Given the description of an element on the screen output the (x, y) to click on. 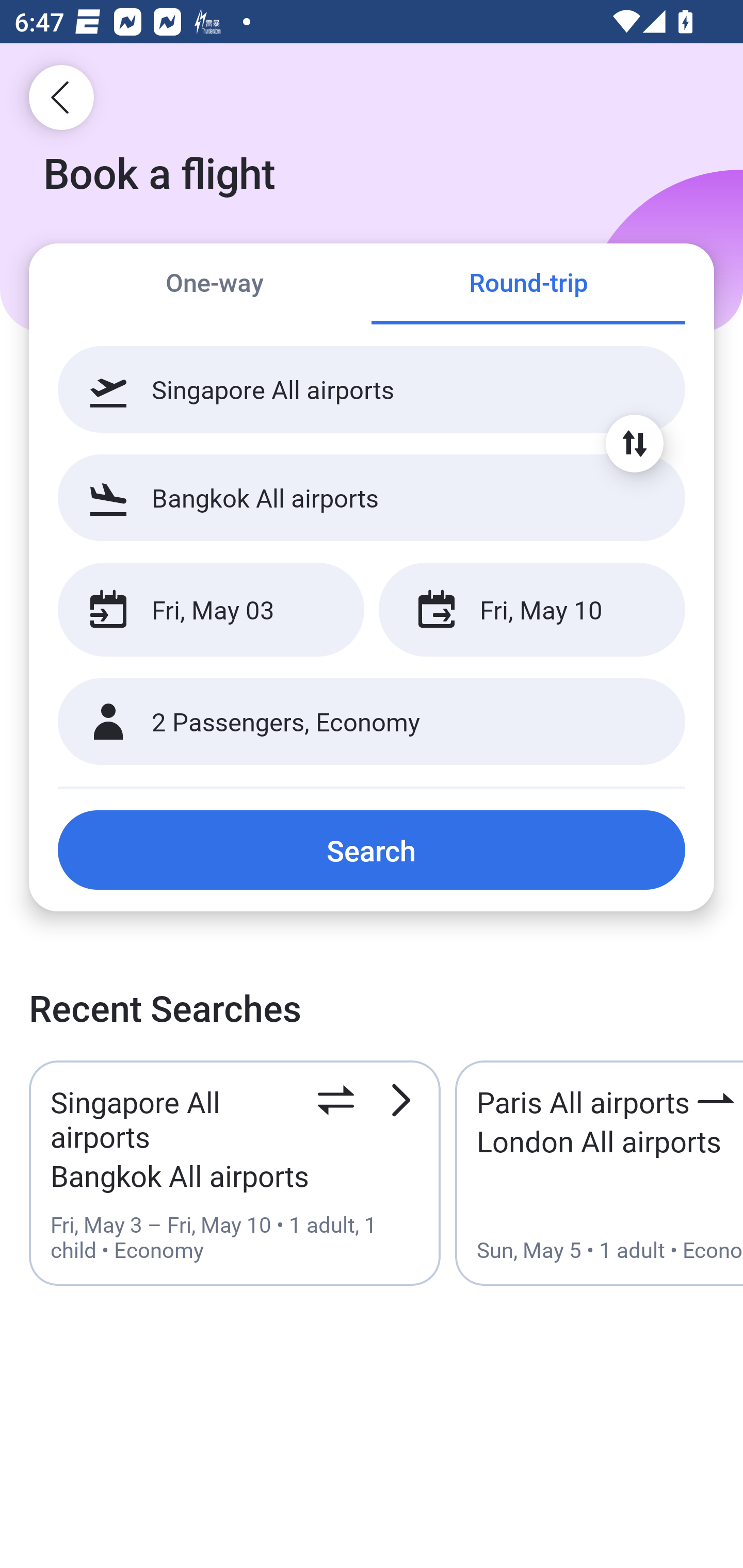
One-way (214, 284)
Singapore All airports (371, 389)
Bangkok All airports (371, 497)
Fri, May 03 (210, 609)
Fri, May 10 (531, 609)
2 Passengers, Economy (371, 721)
Search (371, 849)
